Given the description of an element on the screen output the (x, y) to click on. 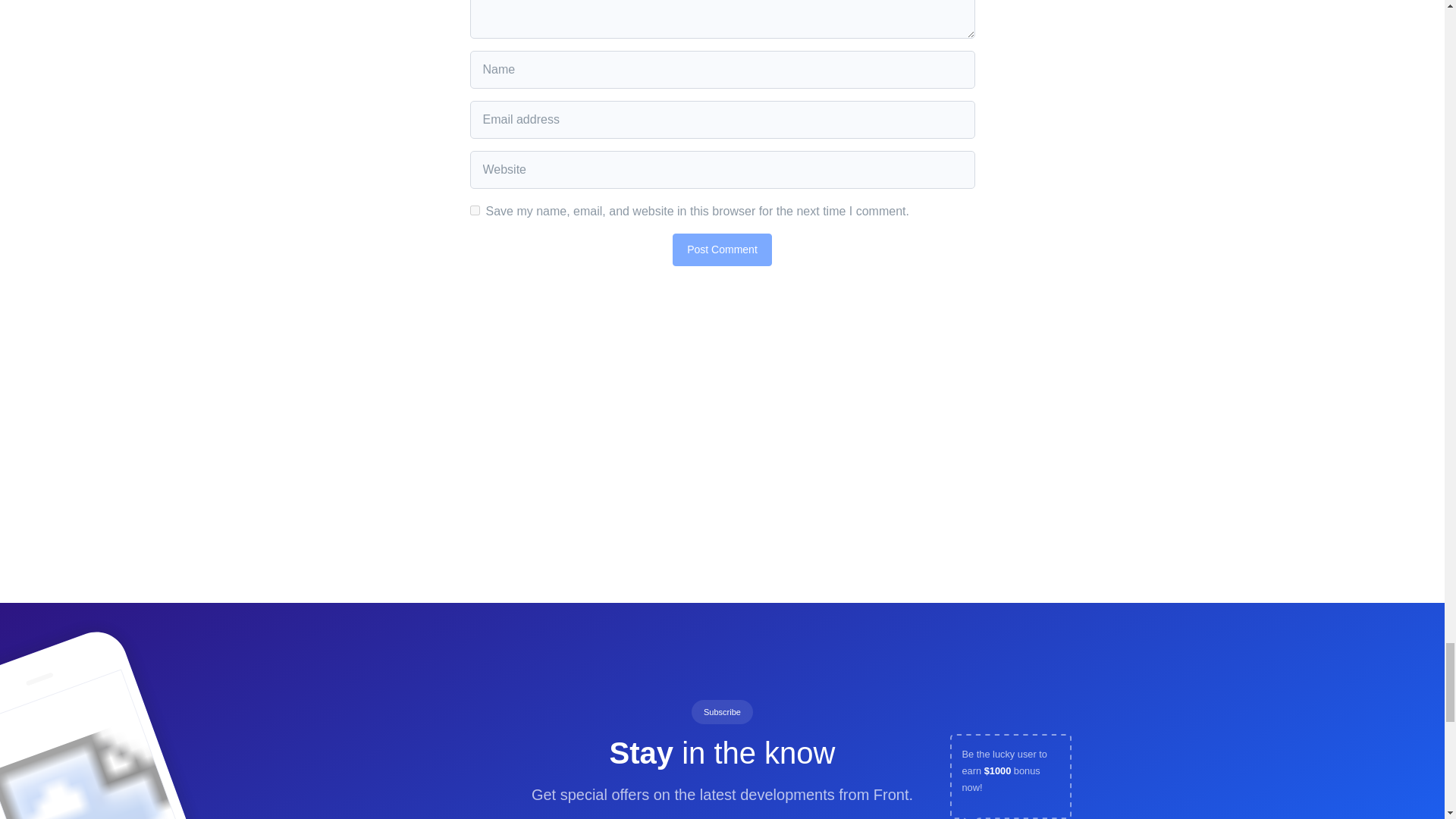
Post Comment (721, 249)
yes (475, 210)
